Given the description of an element on the screen output the (x, y) to click on. 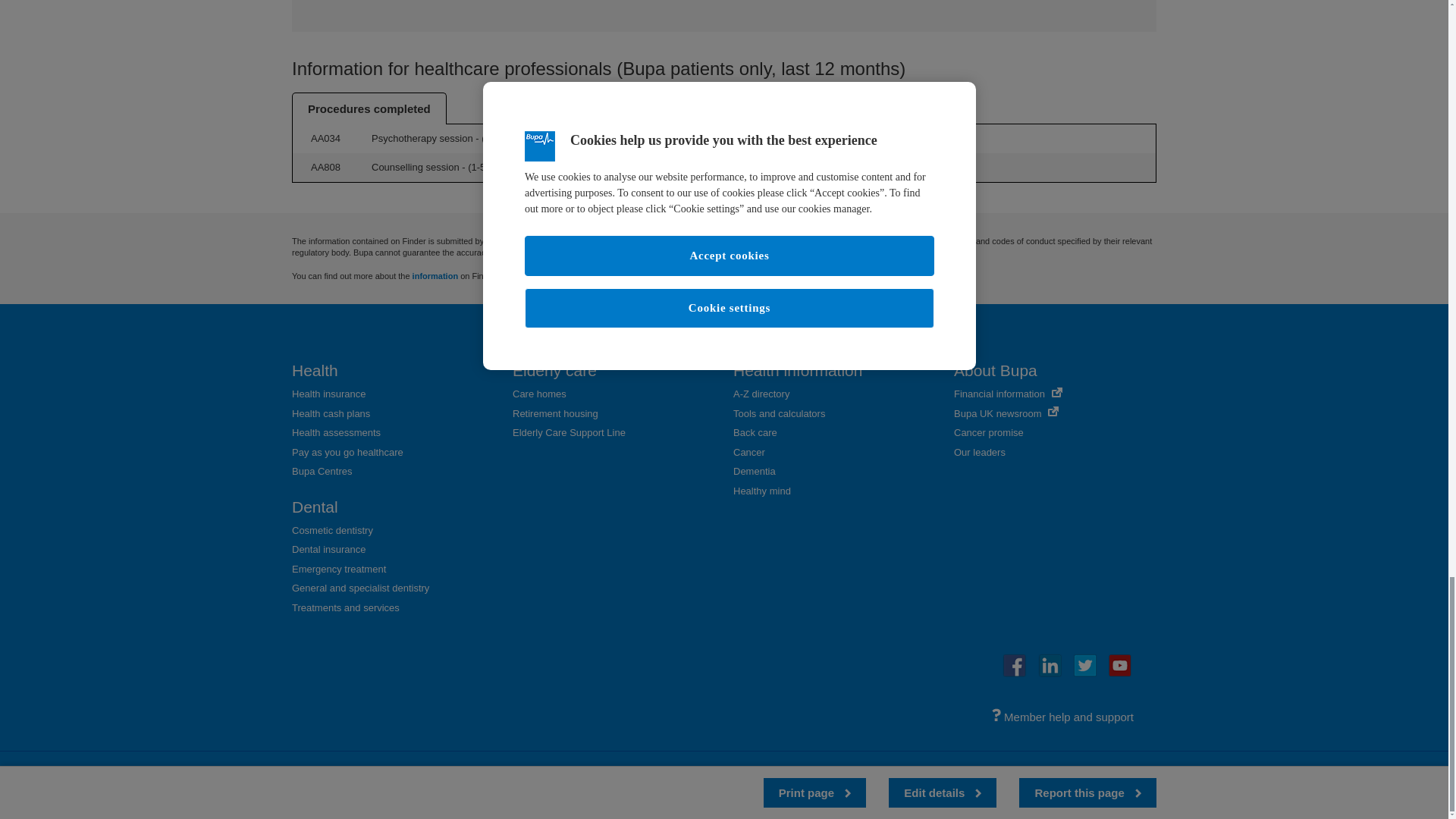
Health assessments (336, 432)
Bupa Centres (322, 471)
Procedures completed (369, 108)
Health cash plans (330, 413)
Less than 5 in the last year for Bupa members (478, 166)
Health (314, 370)
information (435, 275)
Pay as you go healthcare (347, 451)
Health insurance (329, 393)
Dental (314, 506)
